Given the description of an element on the screen output the (x, y) to click on. 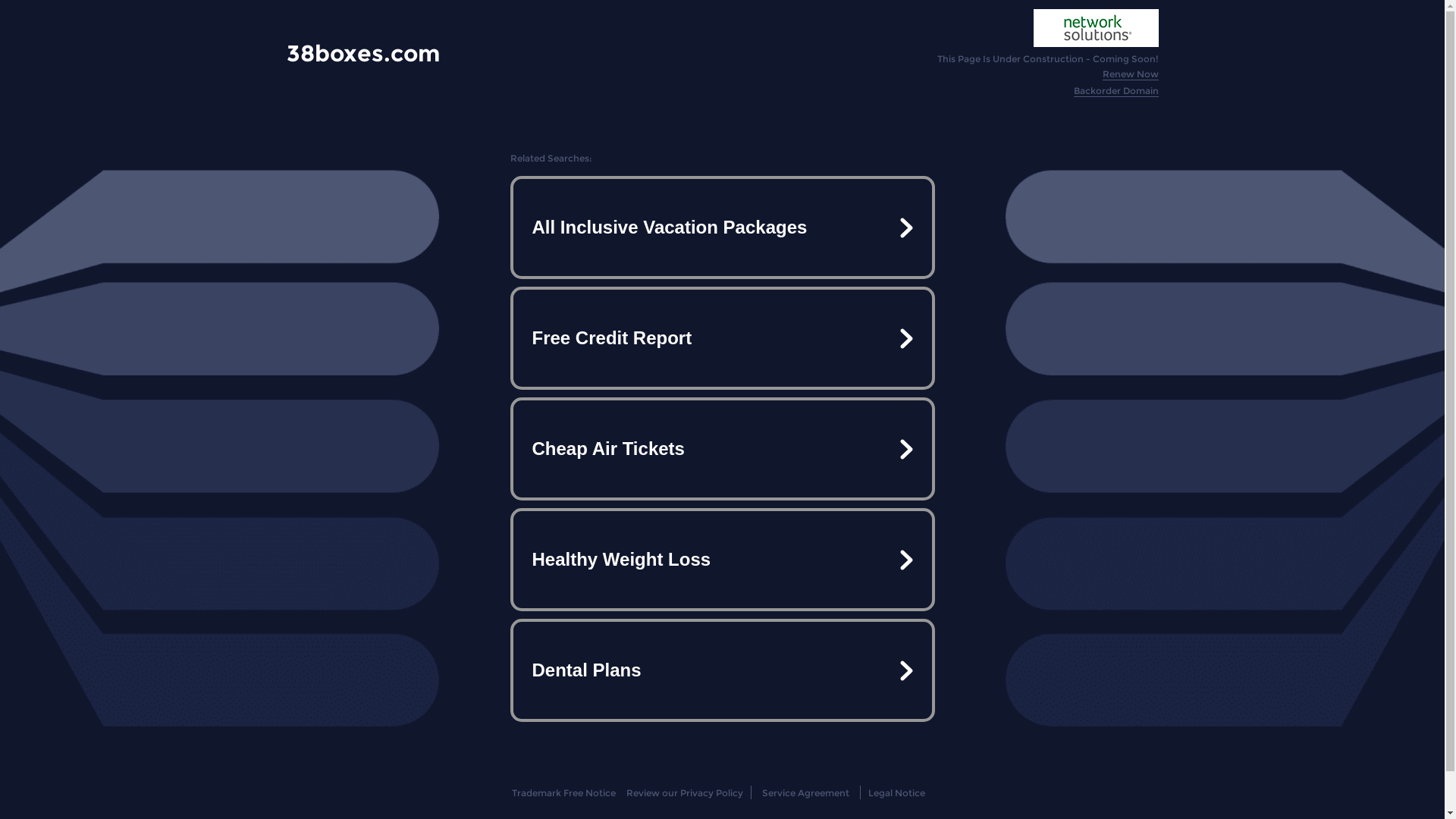
38boxes.com Element type: text (362, 53)
Cheap Air Tickets Element type: text (721, 448)
Service Agreement Element type: text (805, 792)
Review our Privacy Policy Element type: text (684, 792)
Trademark Free Notice Element type: text (563, 792)
All Inclusive Vacation Packages Element type: text (721, 227)
Healthy Weight Loss Element type: text (721, 559)
Legal Notice Element type: text (896, 792)
Free Credit Report Element type: text (721, 337)
Renew Now Element type: text (1130, 74)
Dental Plans Element type: text (721, 669)
Backorder Domain Element type: text (1115, 90)
